Given the description of an element on the screen output the (x, y) to click on. 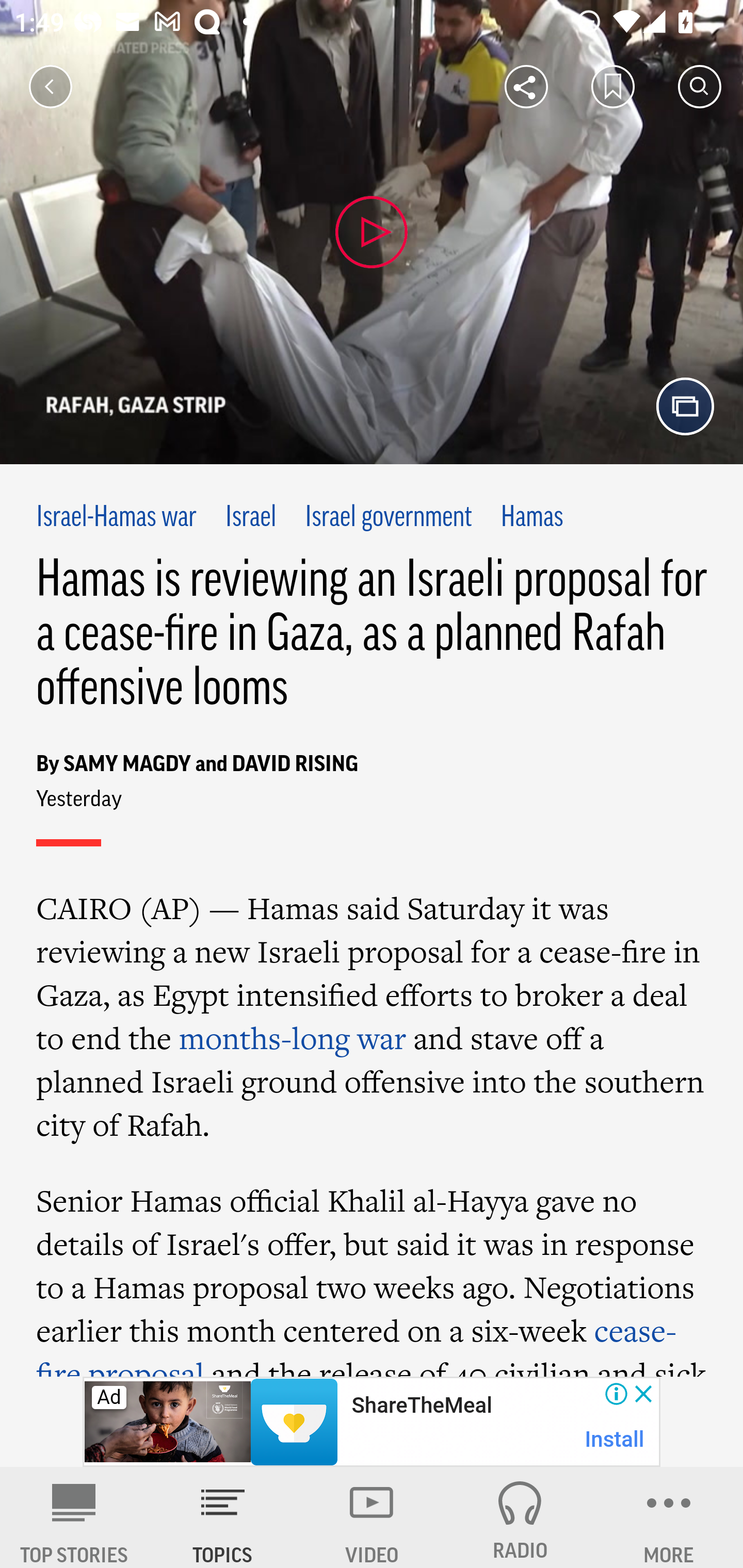
Israel-Hamas war (117, 518)
Israel (250, 518)
Israel government (388, 518)
Hamas (531, 518)
months-long war (291, 1037)
cease-fire proposal (356, 1342)
ShareTheMeal (420, 1405)
Install (614, 1438)
AP News TOP STORIES (74, 1517)
TOPICS (222, 1517)
VIDEO (371, 1517)
RADIO (519, 1517)
MORE (668, 1517)
